Given the description of an element on the screen output the (x, y) to click on. 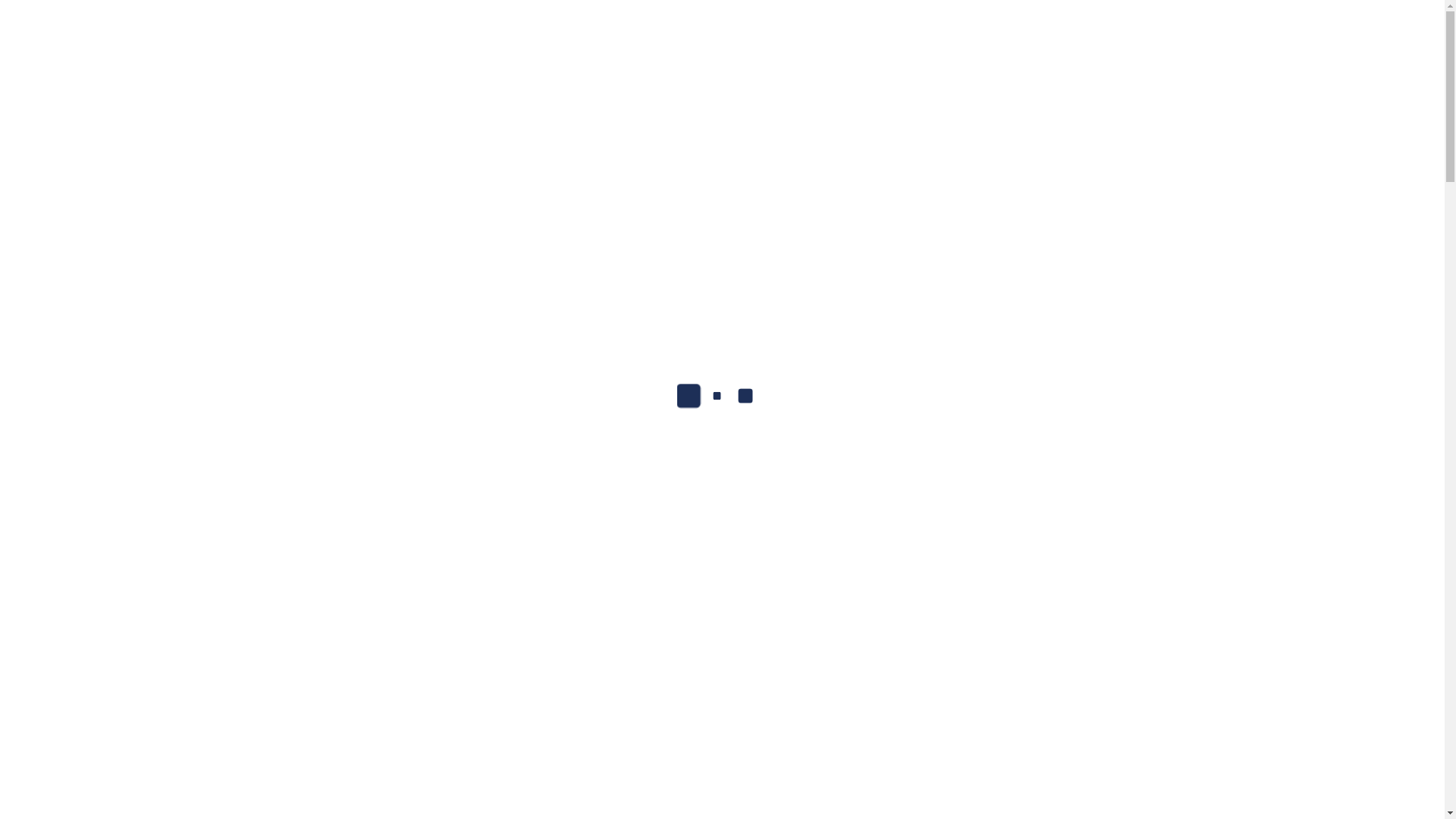
Contact Element type: text (796, 127)
wdc@sd51.bc.ca Element type: text (432, 14)
Home Element type: text (553, 127)
Calendar Element type: text (724, 127)
Our School Element type: text (634, 127)
News Element type: text (859, 127)
